Given the description of an element on the screen output the (x, y) to click on. 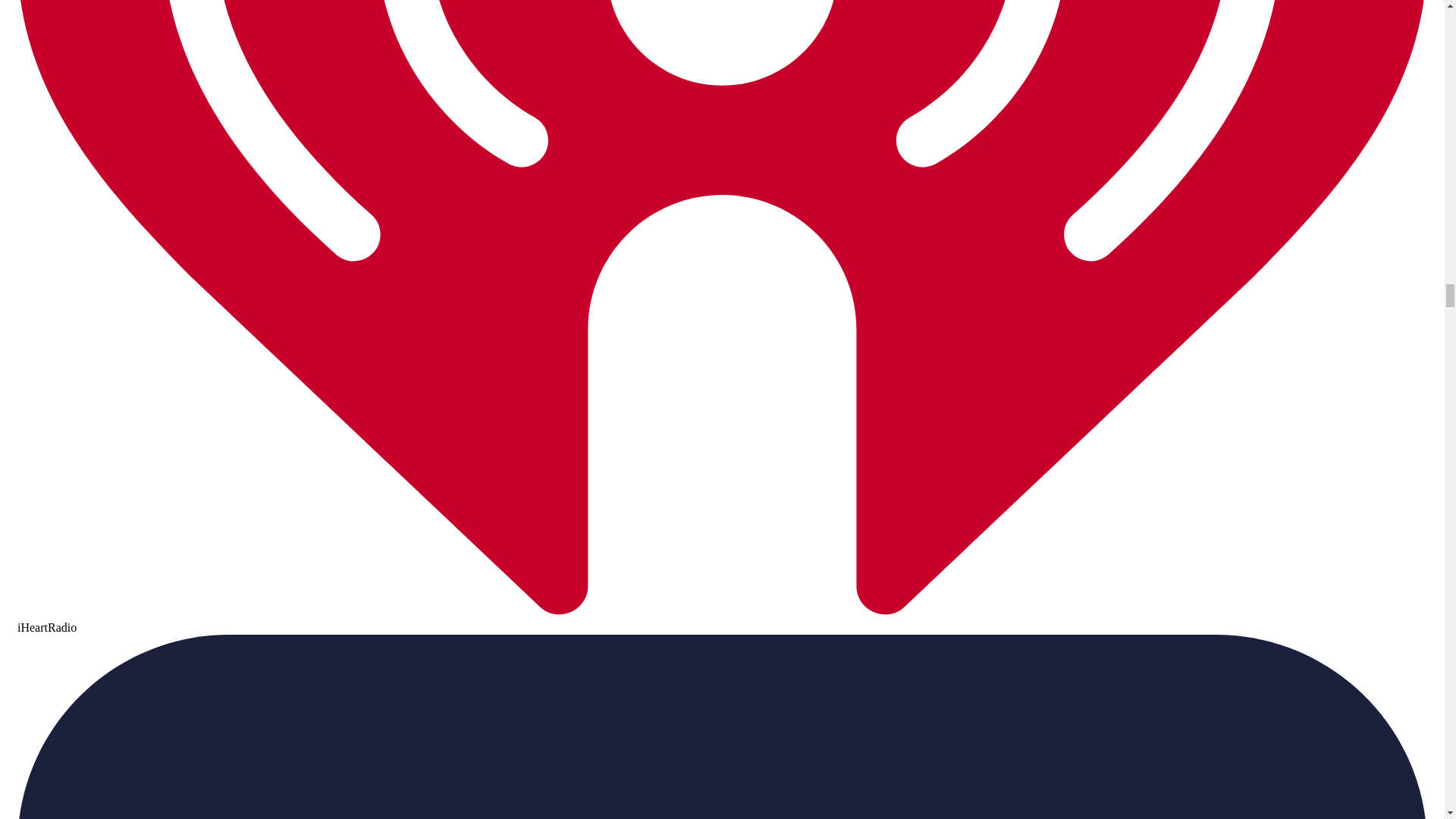
iHeartRadio (721, 620)
